Given the description of an element on the screen output the (x, y) to click on. 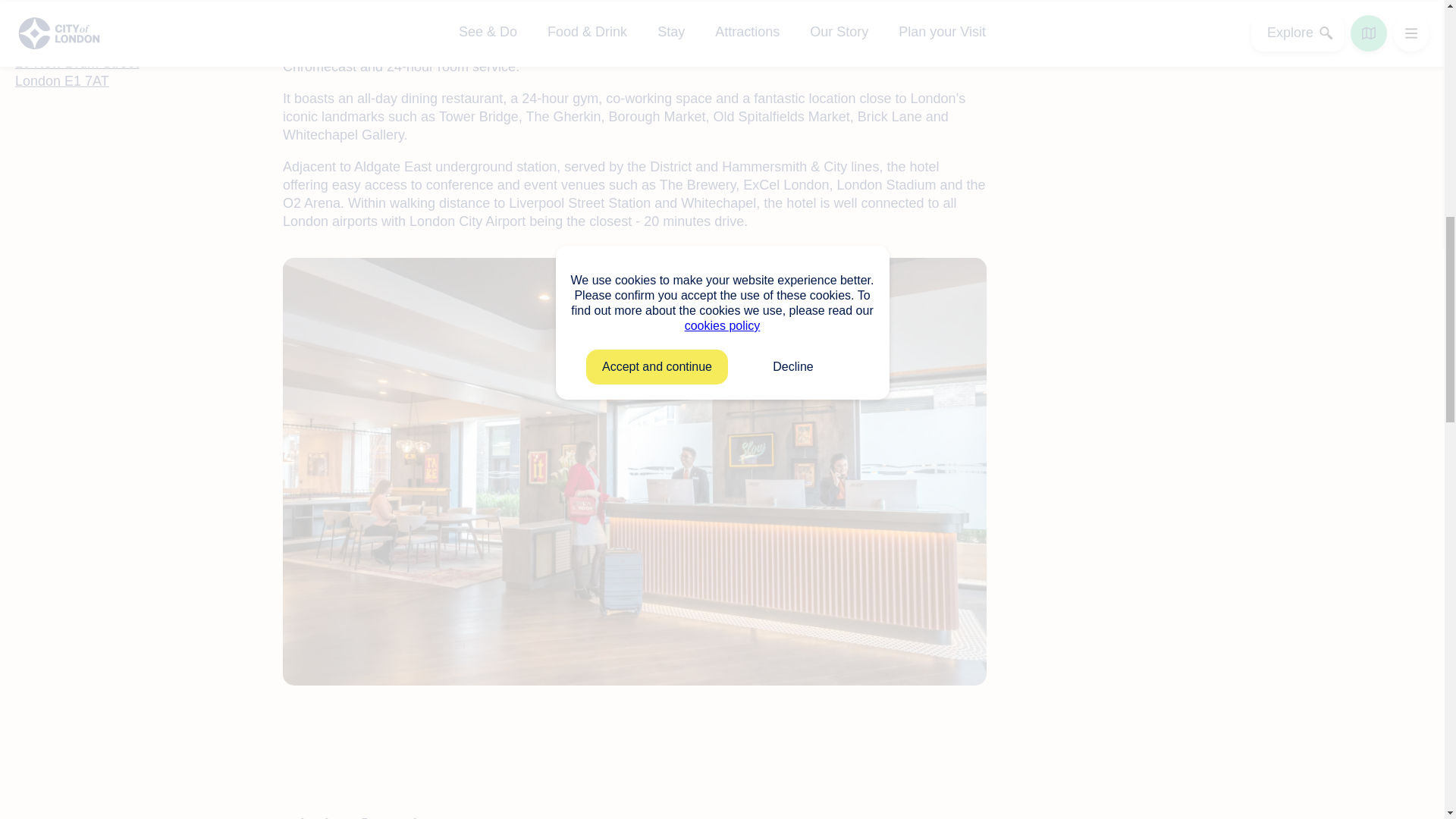
10 New Drum Street London E1 7AT (76, 71)
www.claytonhotelcityoflondon.com (118, 24)
